Given the description of an element on the screen output the (x, y) to click on. 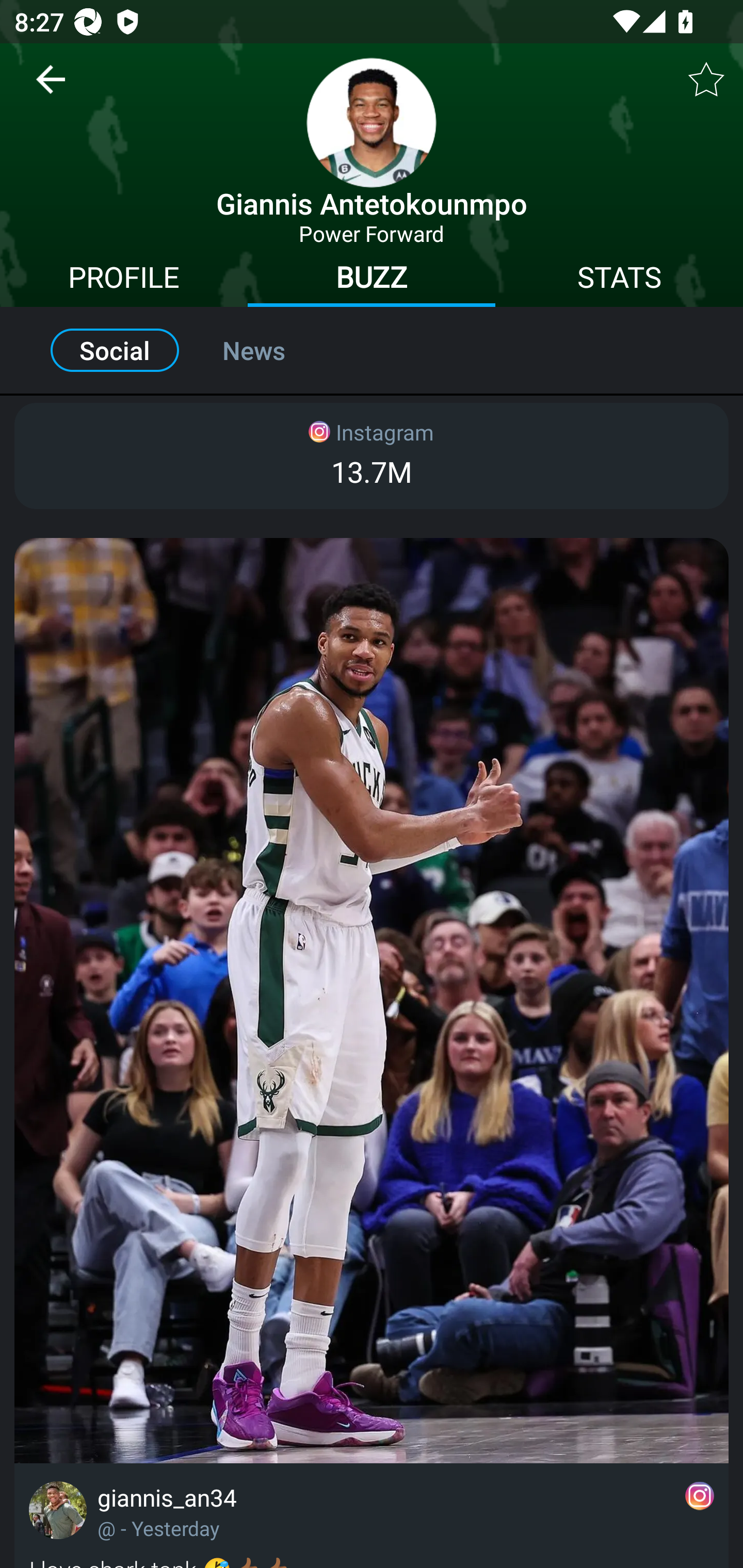
Navigate up (50, 86)
PROFILE (123, 279)
BUZZ (371, 279)
STATS (619, 279)
News (275, 350)
Instagram 13.7M (371, 455)
